Given the description of an element on the screen output the (x, y) to click on. 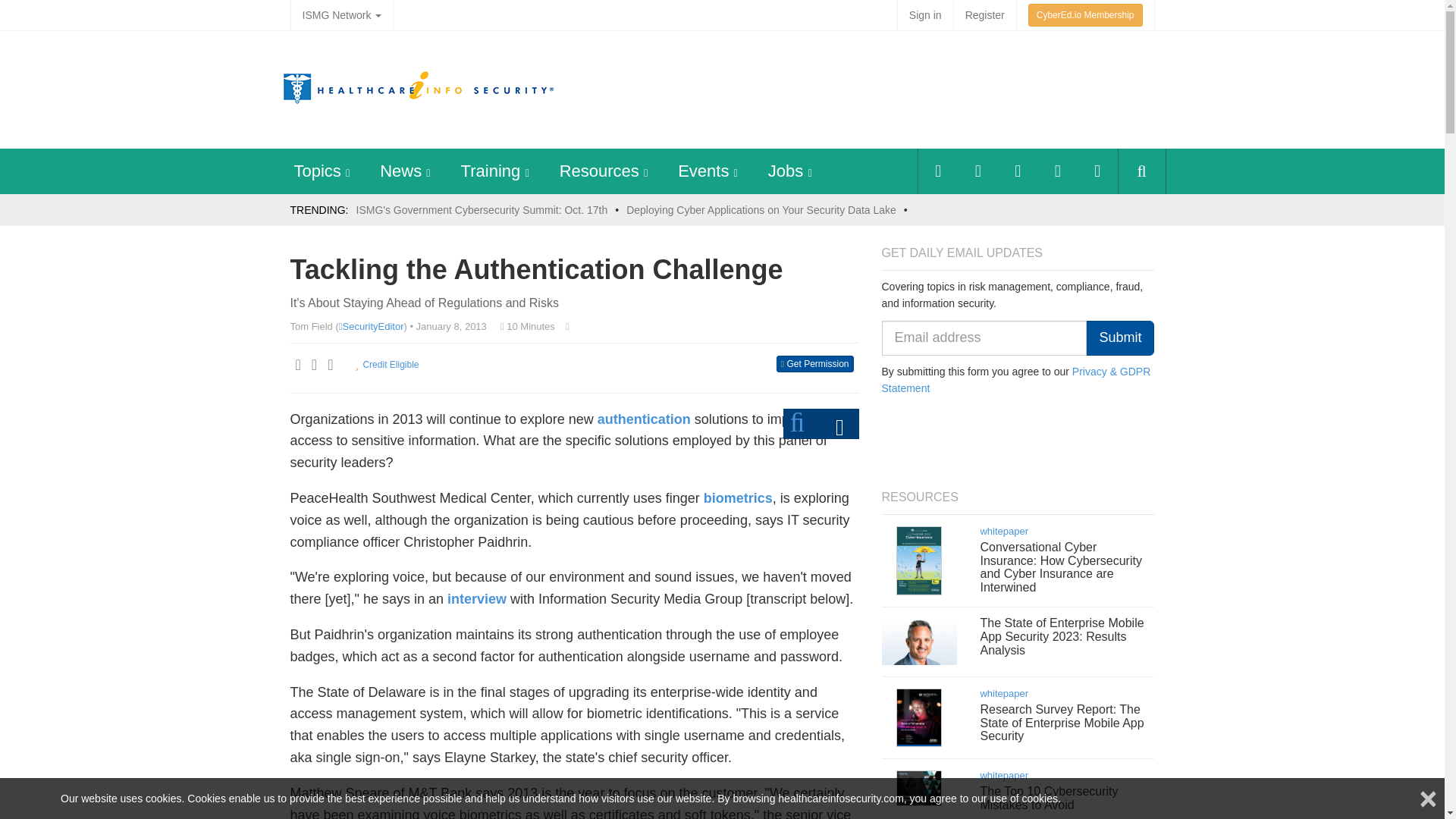
Register (984, 15)
CyberEd.io Membership (1084, 15)
Topics (317, 170)
ISMG Network (341, 15)
Sign in (925, 15)
